Given the description of an element on the screen output the (x, y) to click on. 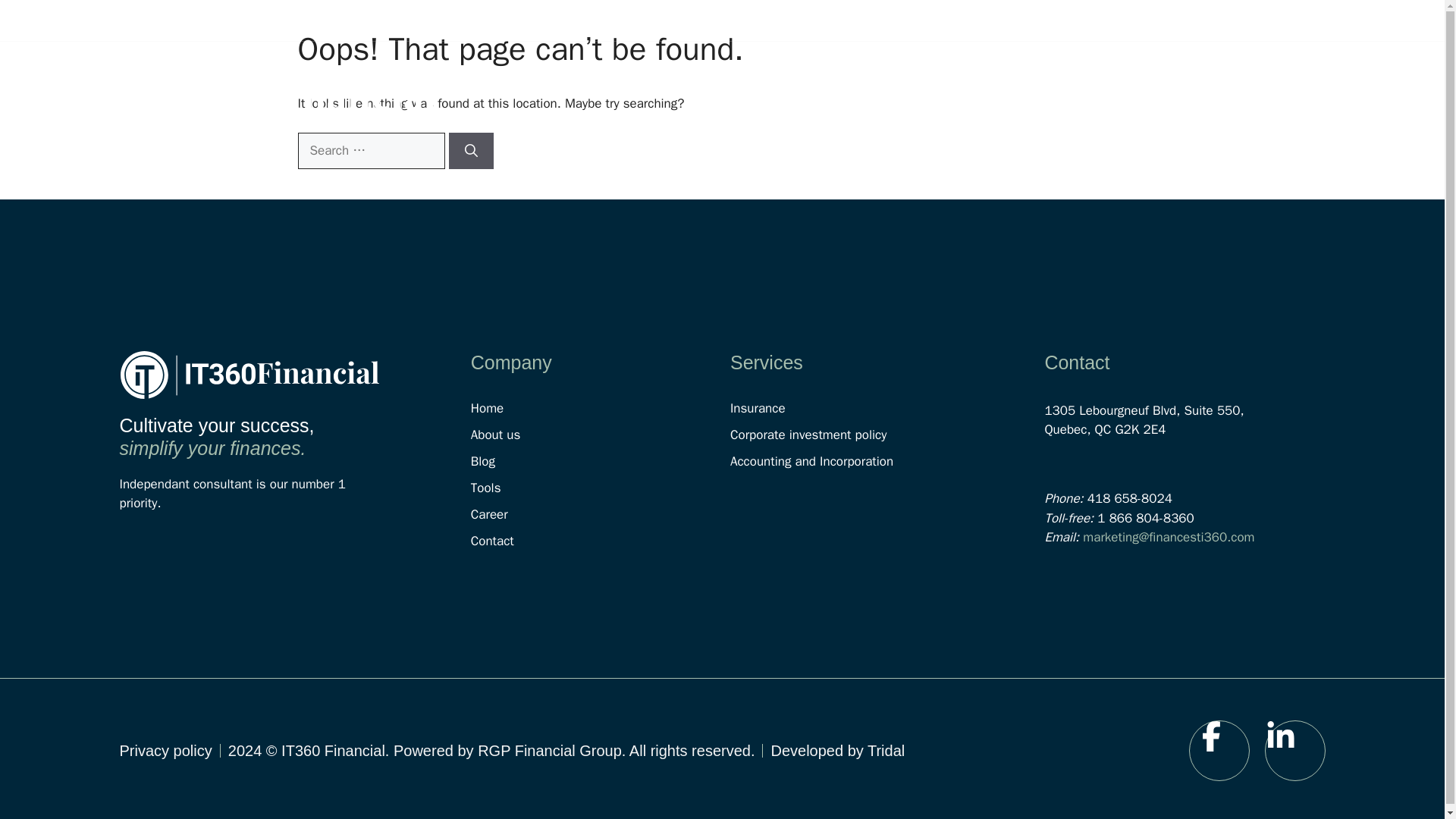
About us (962, 96)
Career (600, 514)
About us (600, 435)
Services (860, 96)
Tools (1116, 96)
Home (766, 96)
Search for: (370, 150)
Phone: 418 658-8024 (1012, 20)
Tools (600, 488)
Home (600, 408)
